Given the description of an element on the screen output the (x, y) to click on. 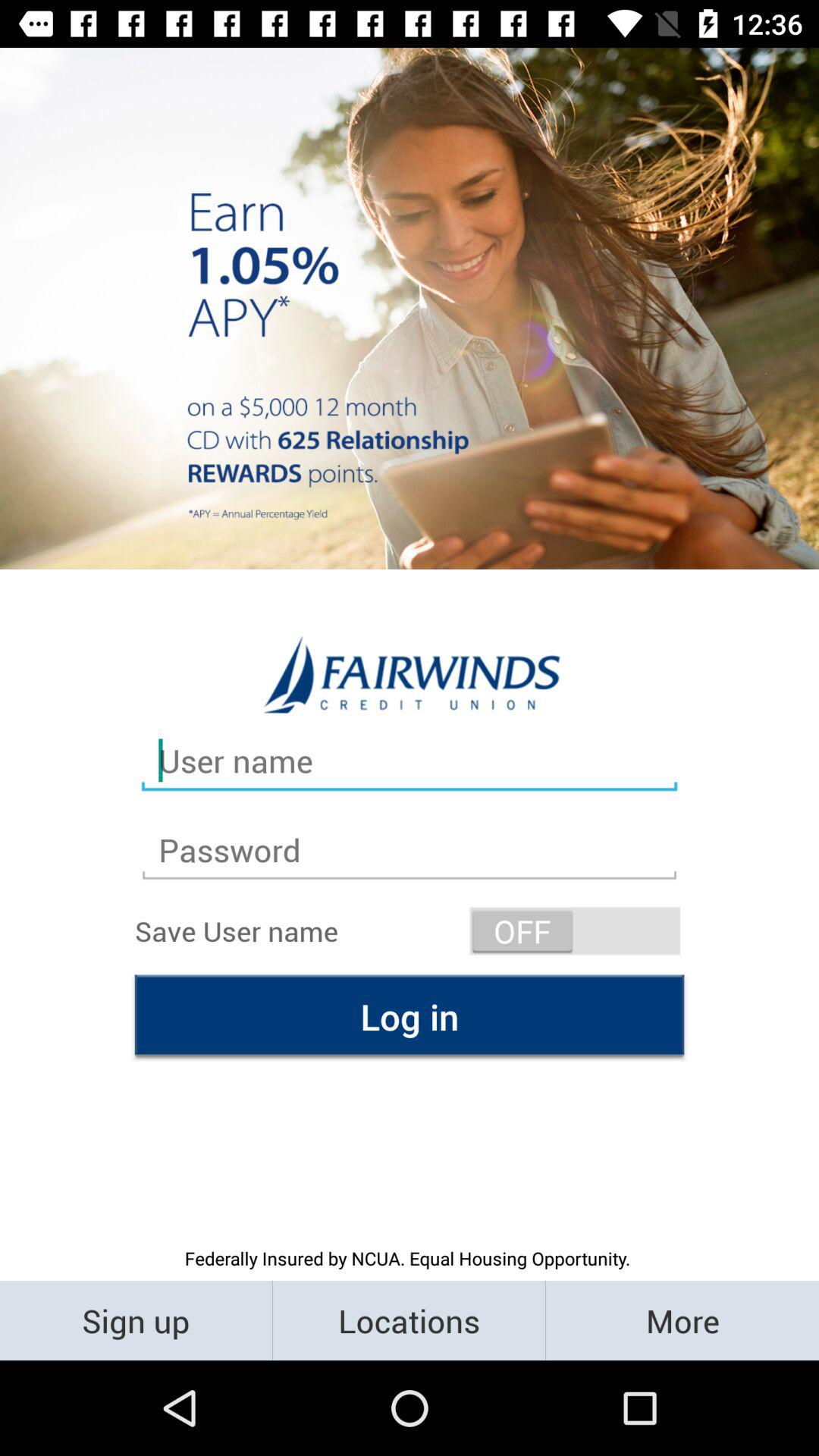
turn off the item below federally insured by item (136, 1320)
